Given the description of an element on the screen output the (x, y) to click on. 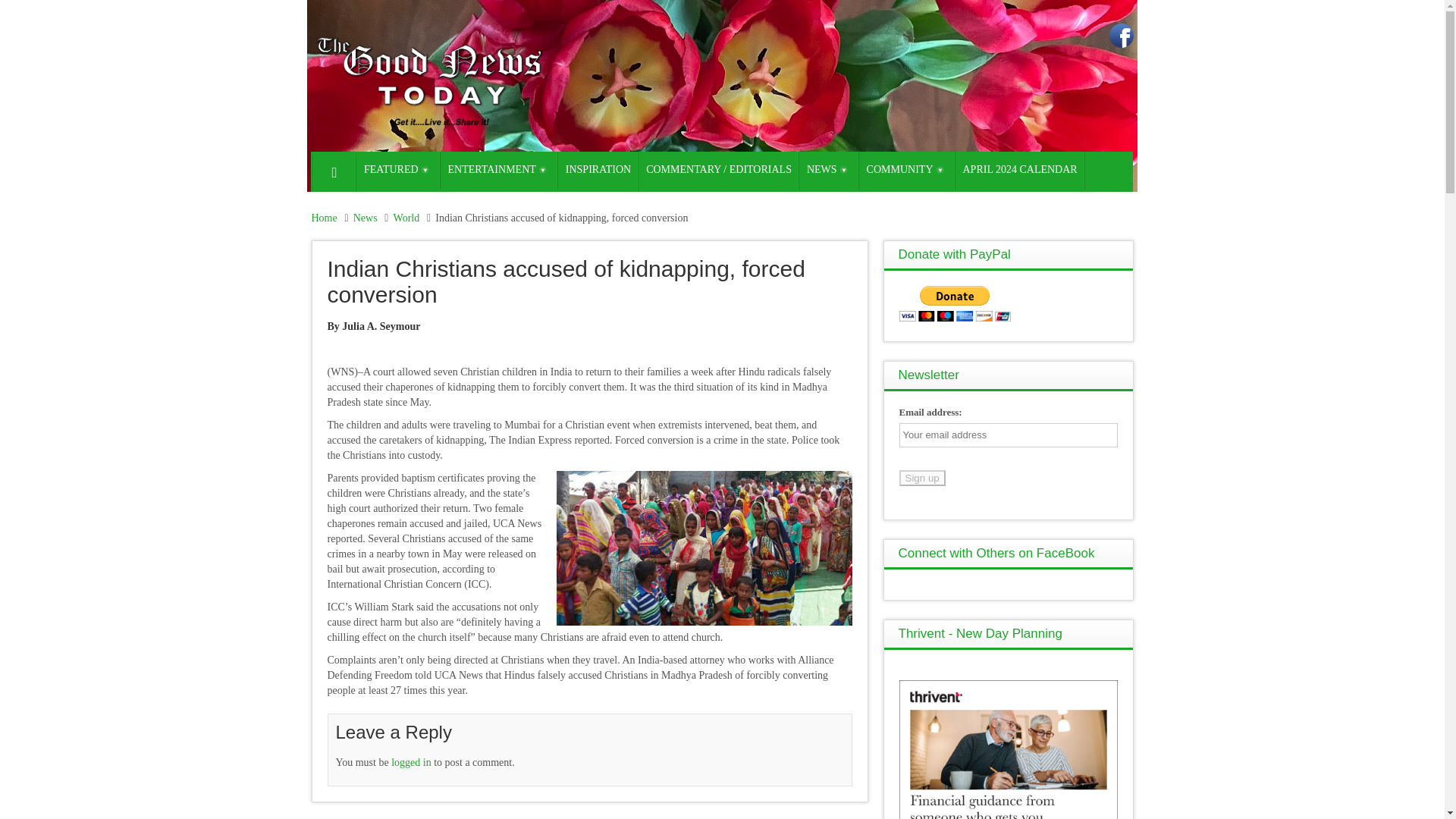
FEATURED (398, 170)
Sign up (921, 478)
